Given the description of an element on the screen output the (x, y) to click on. 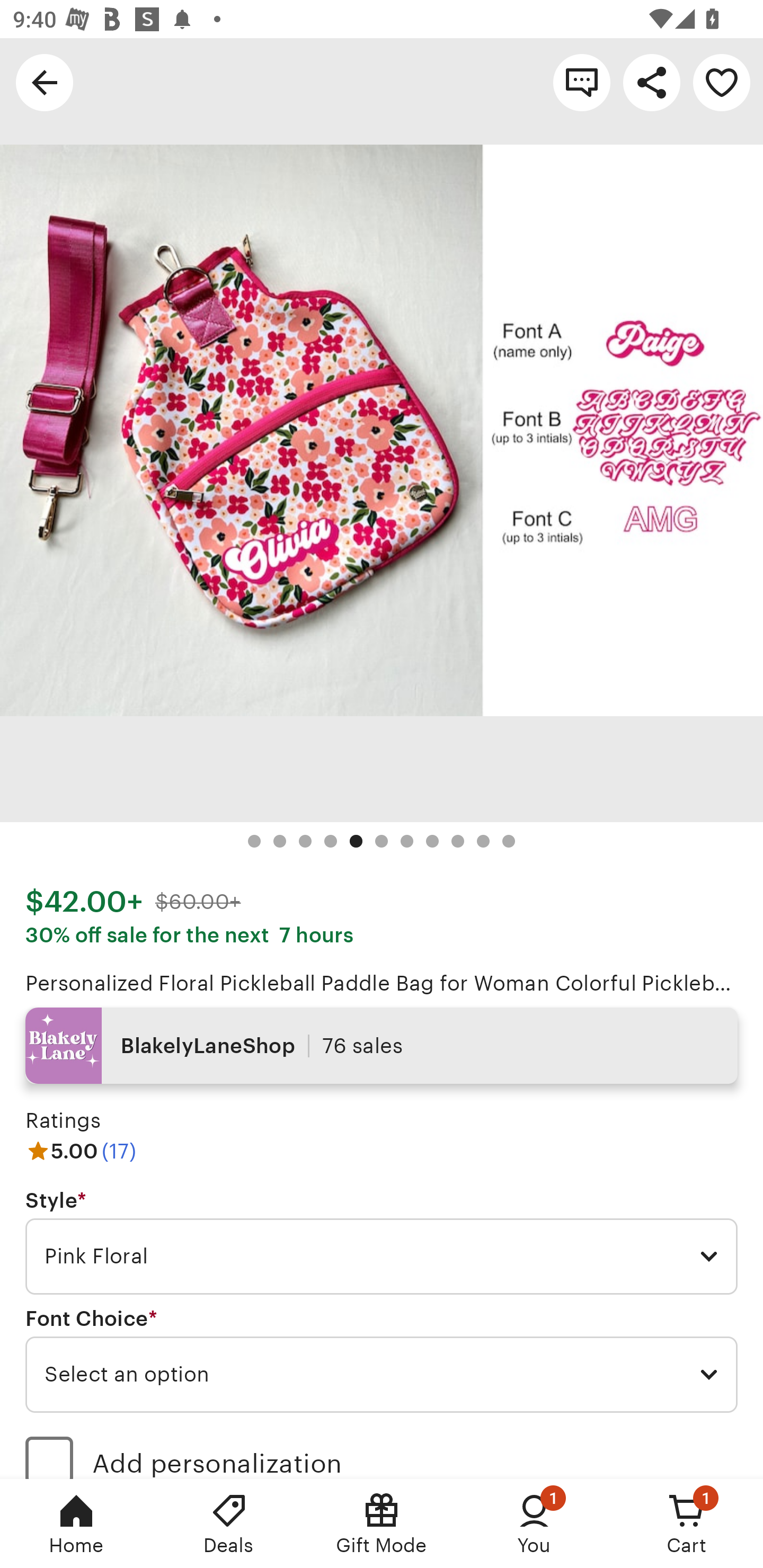
Navigate up (44, 81)
Contact shop (581, 81)
Share (651, 81)
BlakelyLaneShop 76 sales (381, 1045)
Ratings (62, 1120)
5.00 (17) (80, 1150)
Style * Required Pink Floral (381, 1241)
Pink Floral (381, 1256)
Font Choice * Required Select an option (381, 1359)
Select an option (381, 1373)
Add personalization (optional) Add personalization (381, 1451)
Deals (228, 1523)
Gift Mode (381, 1523)
You, 1 new notification You (533, 1523)
Cart, 1 new notification Cart (686, 1523)
